Given the description of an element on the screen output the (x, y) to click on. 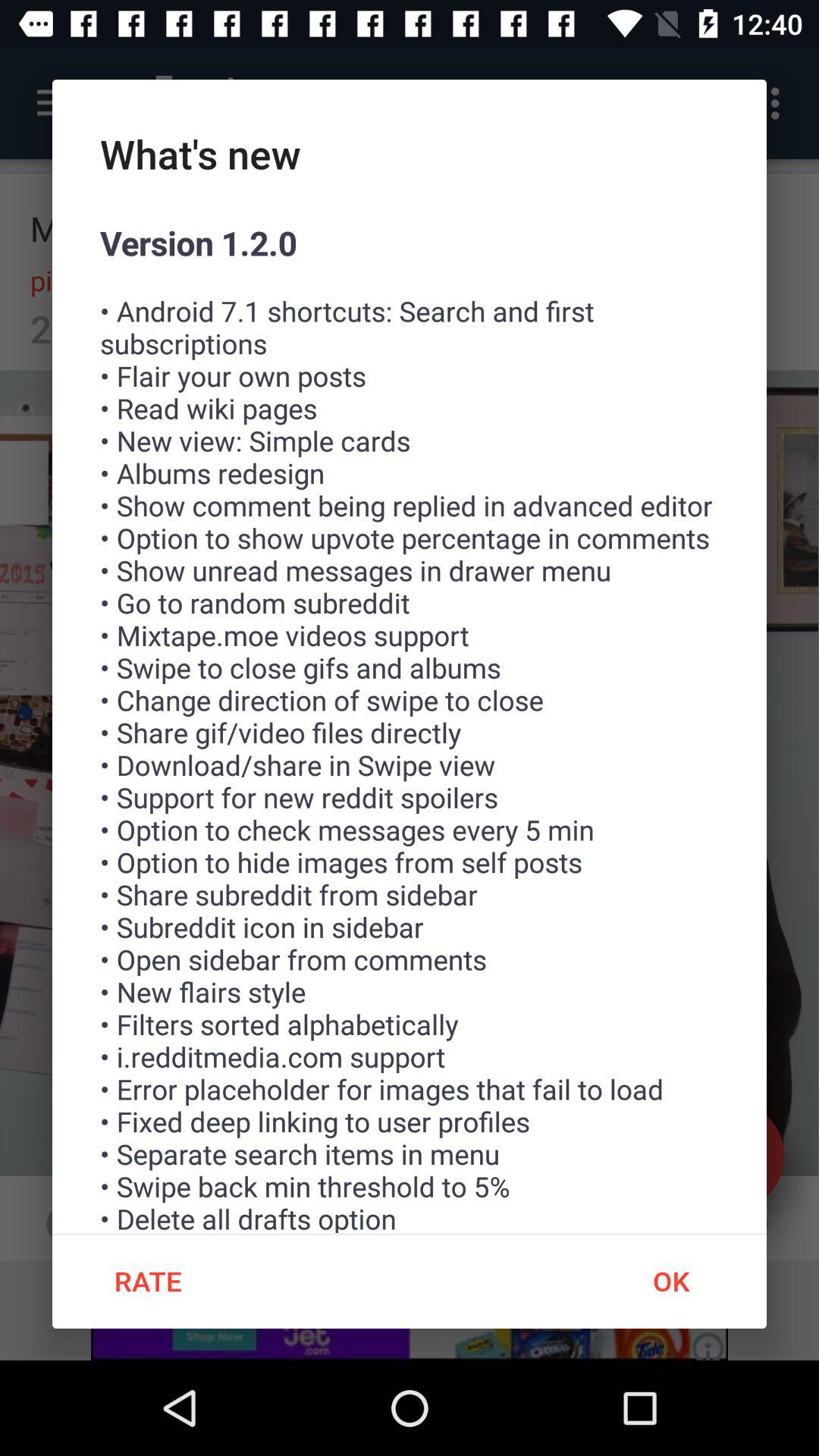
turn on item below the what's new icon (409, 726)
